Given the description of an element on the screen output the (x, y) to click on. 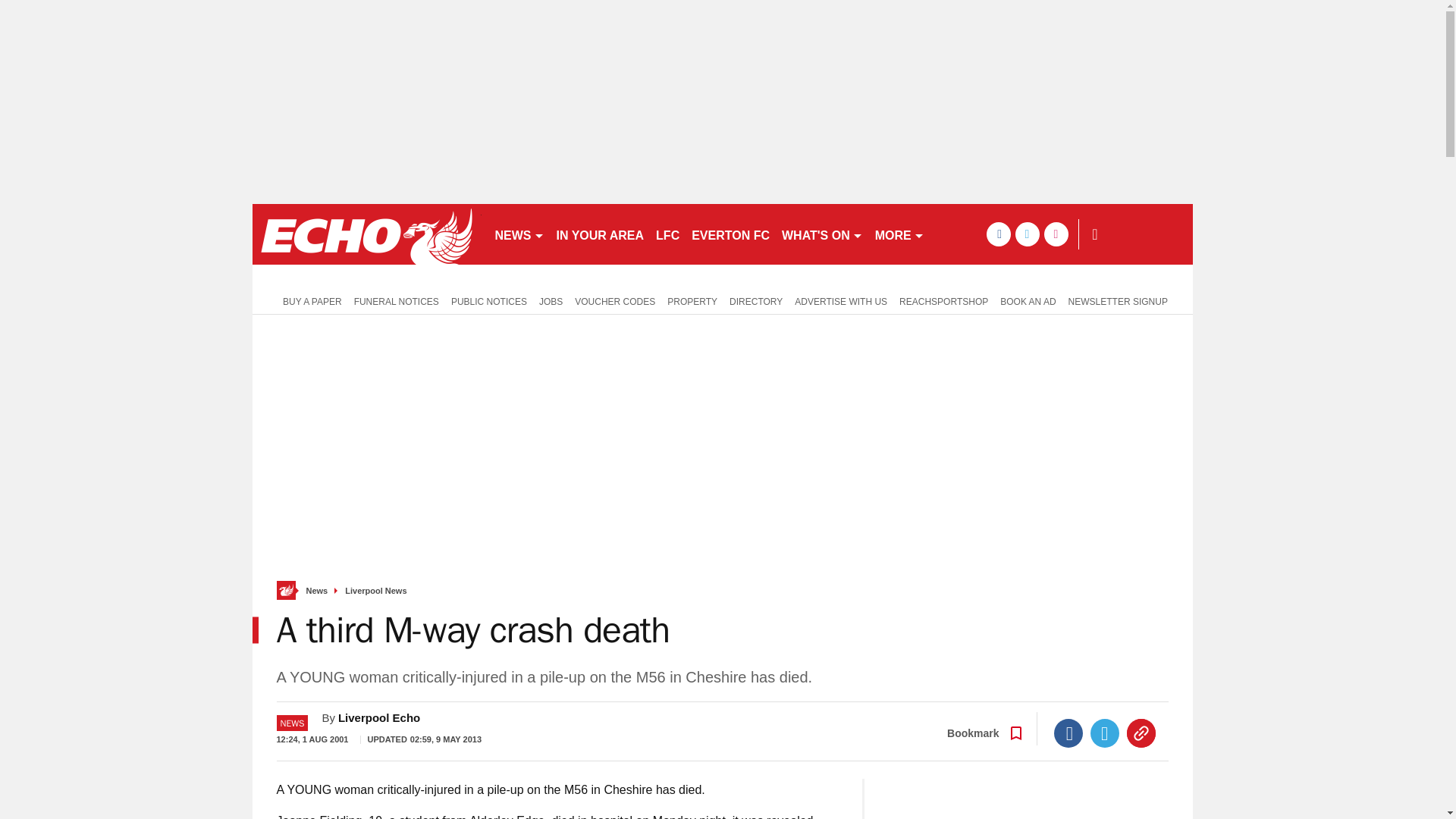
Twitter (1104, 733)
IN YOUR AREA (600, 233)
twitter (1026, 233)
facebook (997, 233)
Facebook (1068, 733)
WHAT'S ON (822, 233)
liverpoolecho (365, 233)
EVERTON FC (730, 233)
MORE (899, 233)
NEWS (518, 233)
